Given the description of an element on the screen output the (x, y) to click on. 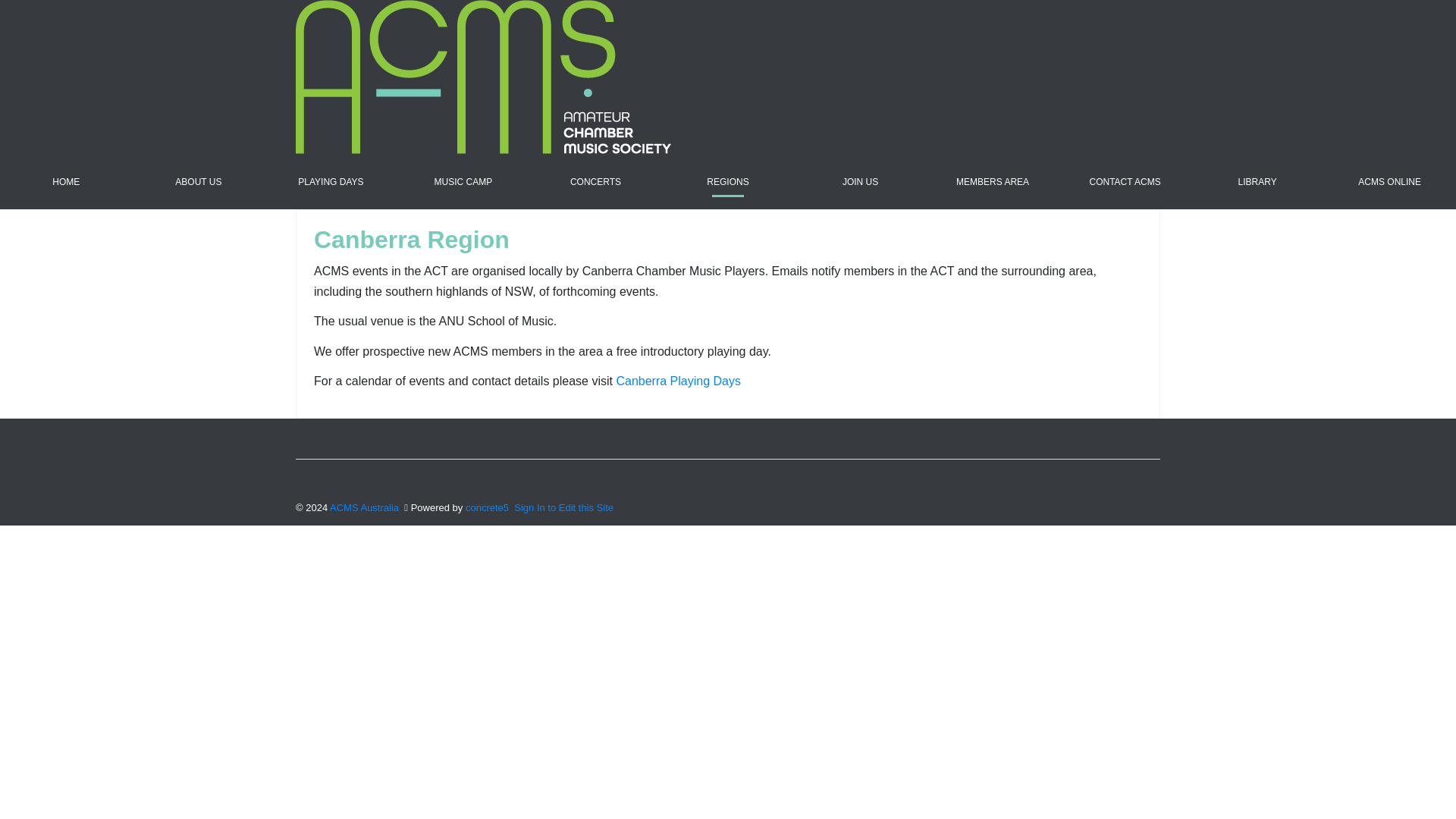
CONCERTS (595, 181)
MUSIC CAMP (463, 181)
HOME (66, 181)
REGIONS (728, 181)
PLAYING DAYS (330, 181)
ABOUT US (198, 181)
